Given the description of an element on the screen output the (x, y) to click on. 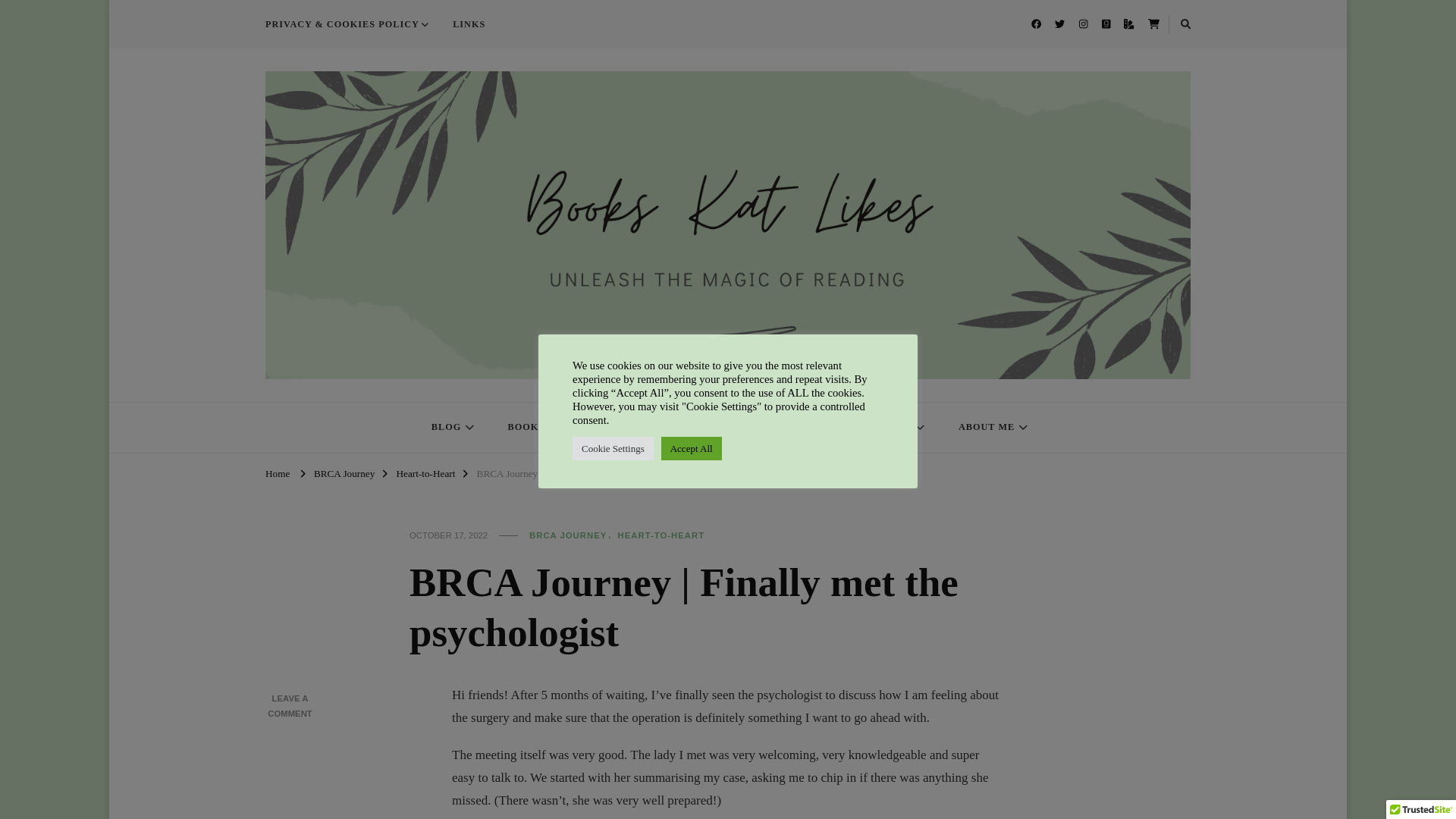
BOOK REVIEWS (712, 427)
Books Kat Likes (340, 392)
Search (1160, 26)
LINKS (468, 24)
BOOKISH CHIT-CHAT (569, 427)
BLOG (450, 427)
THROUGH THE YEARS (858, 427)
